Given the description of an element on the screen output the (x, y) to click on. 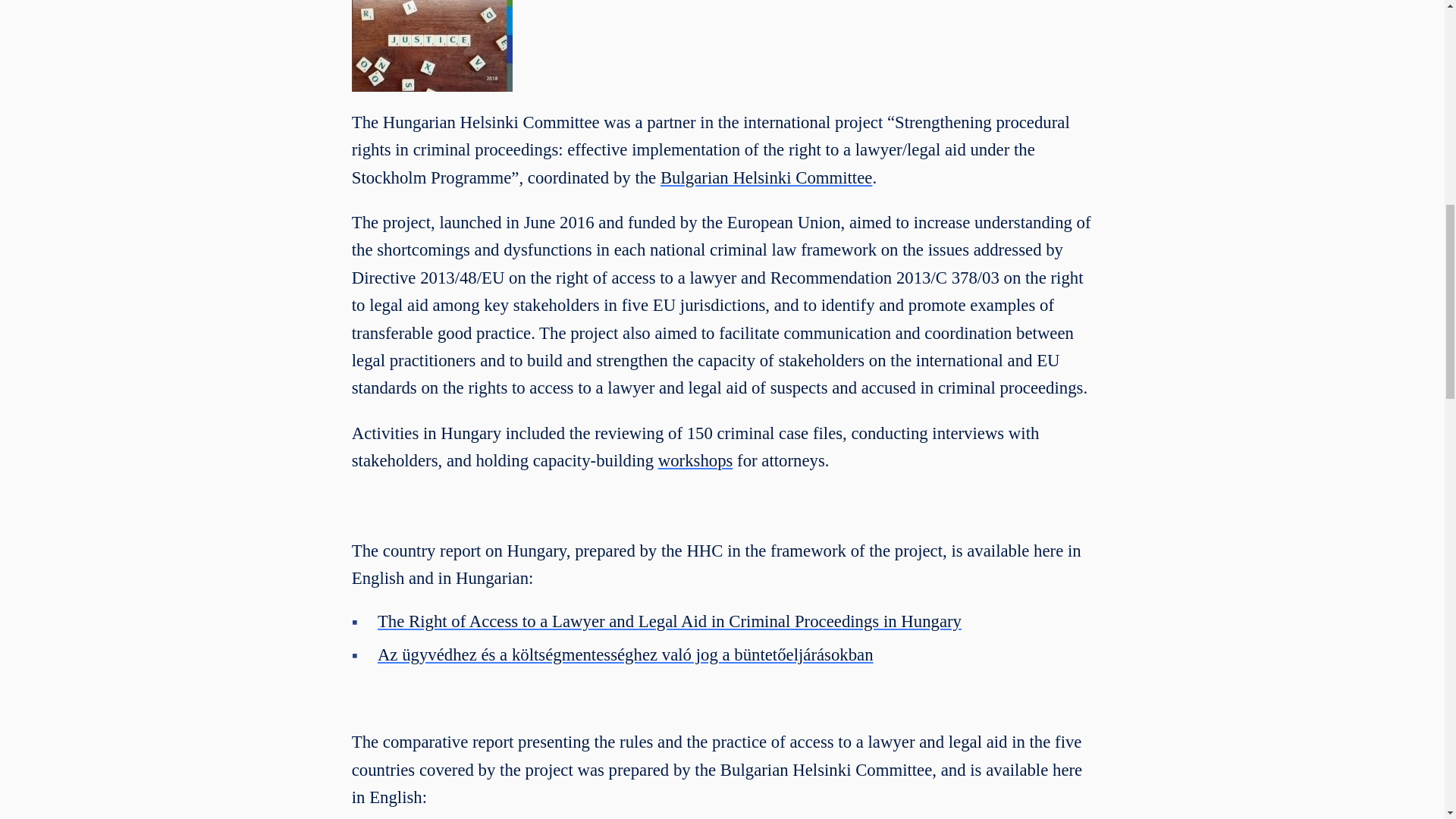
Bulgarian Helsinki Committee (766, 177)
workshops (695, 460)
